Given the description of an element on the screen output the (x, y) to click on. 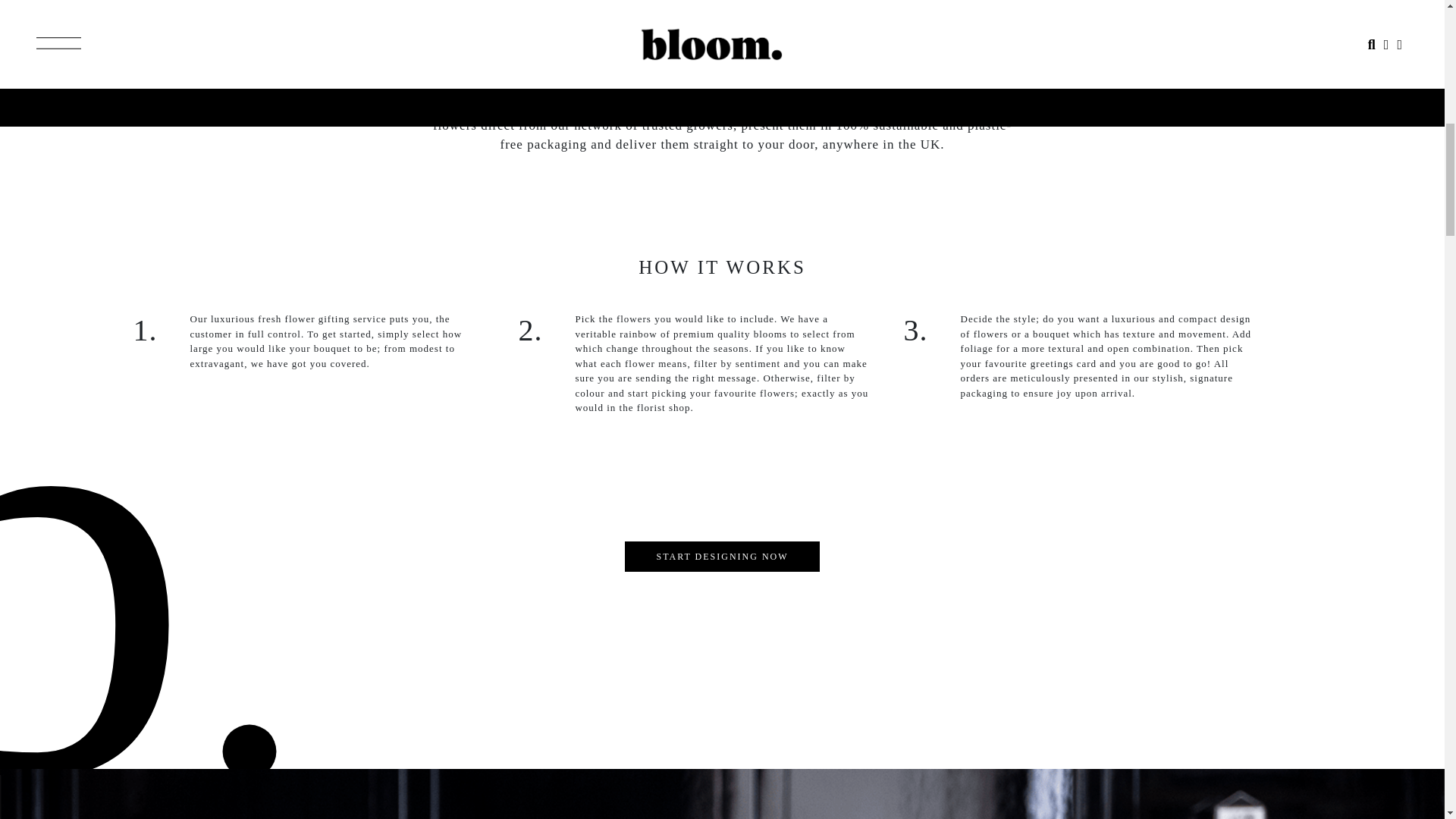
START DESIGNING NOW (721, 556)
ORDER NOW (1077, 571)
